Given the description of an element on the screen output the (x, y) to click on. 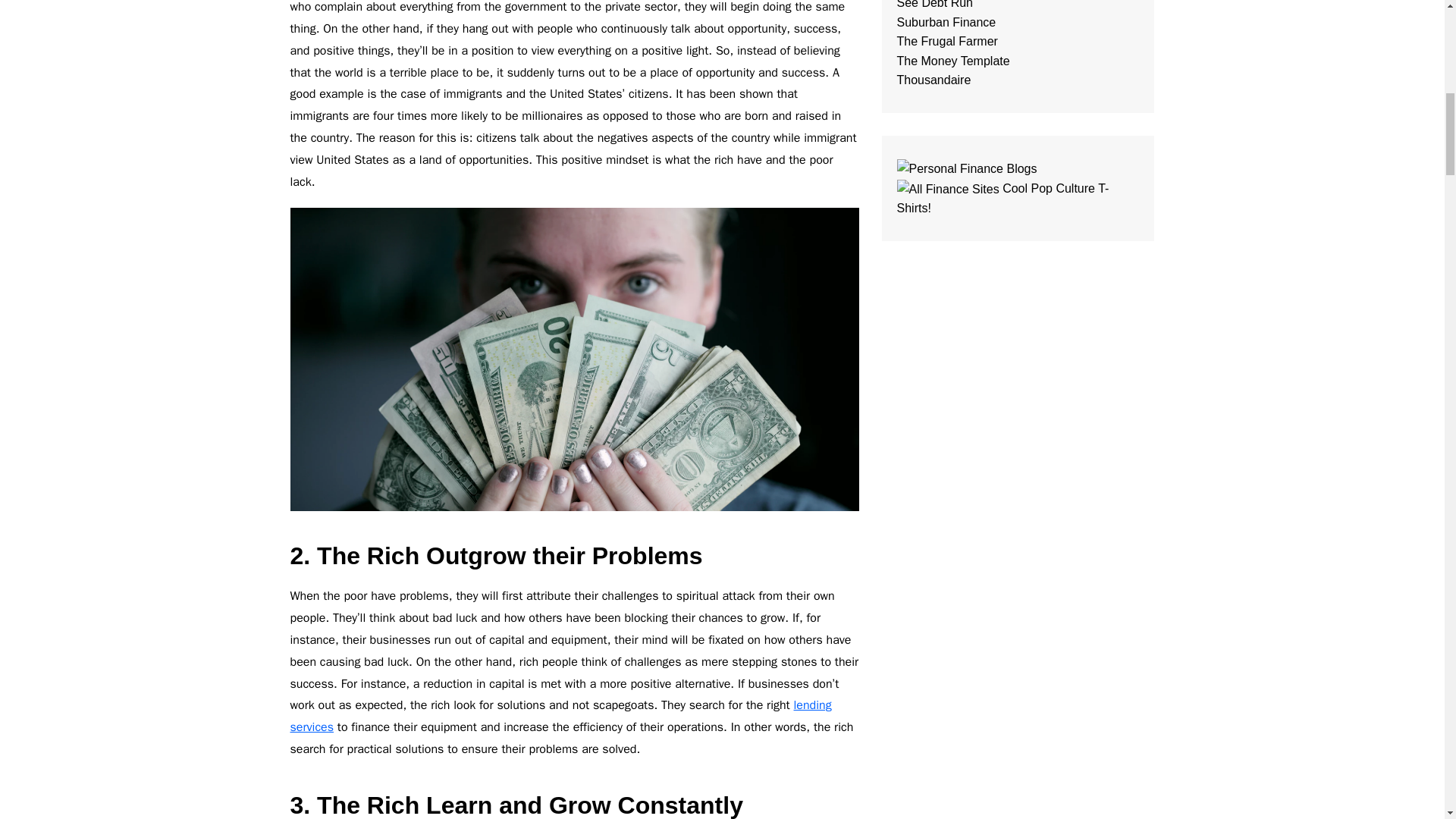
lending services (560, 715)
